Given the description of an element on the screen output the (x, y) to click on. 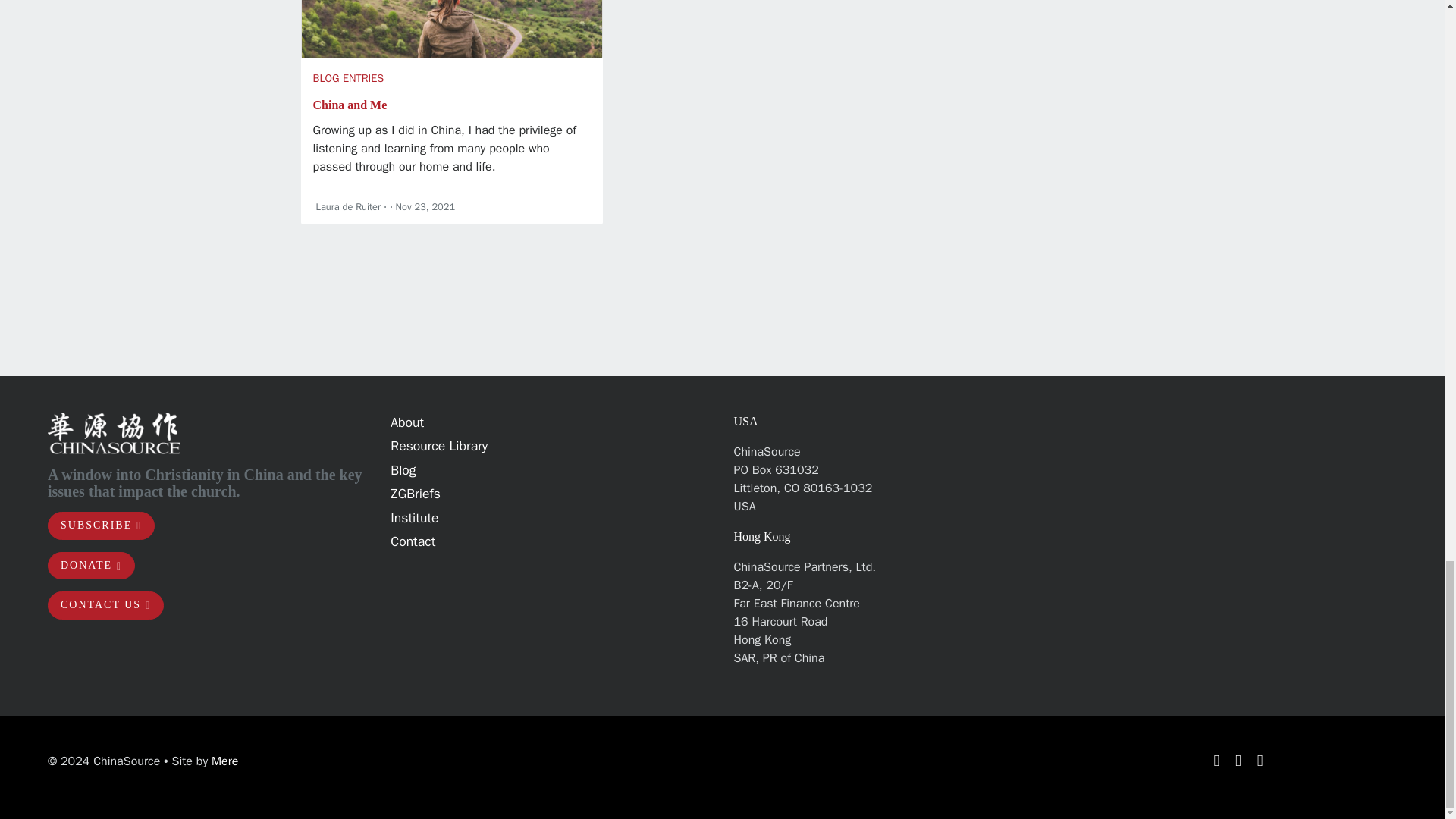
BLOG ENTRIES (348, 78)
China and Me (350, 104)
